Given the description of an element on the screen output the (x, y) to click on. 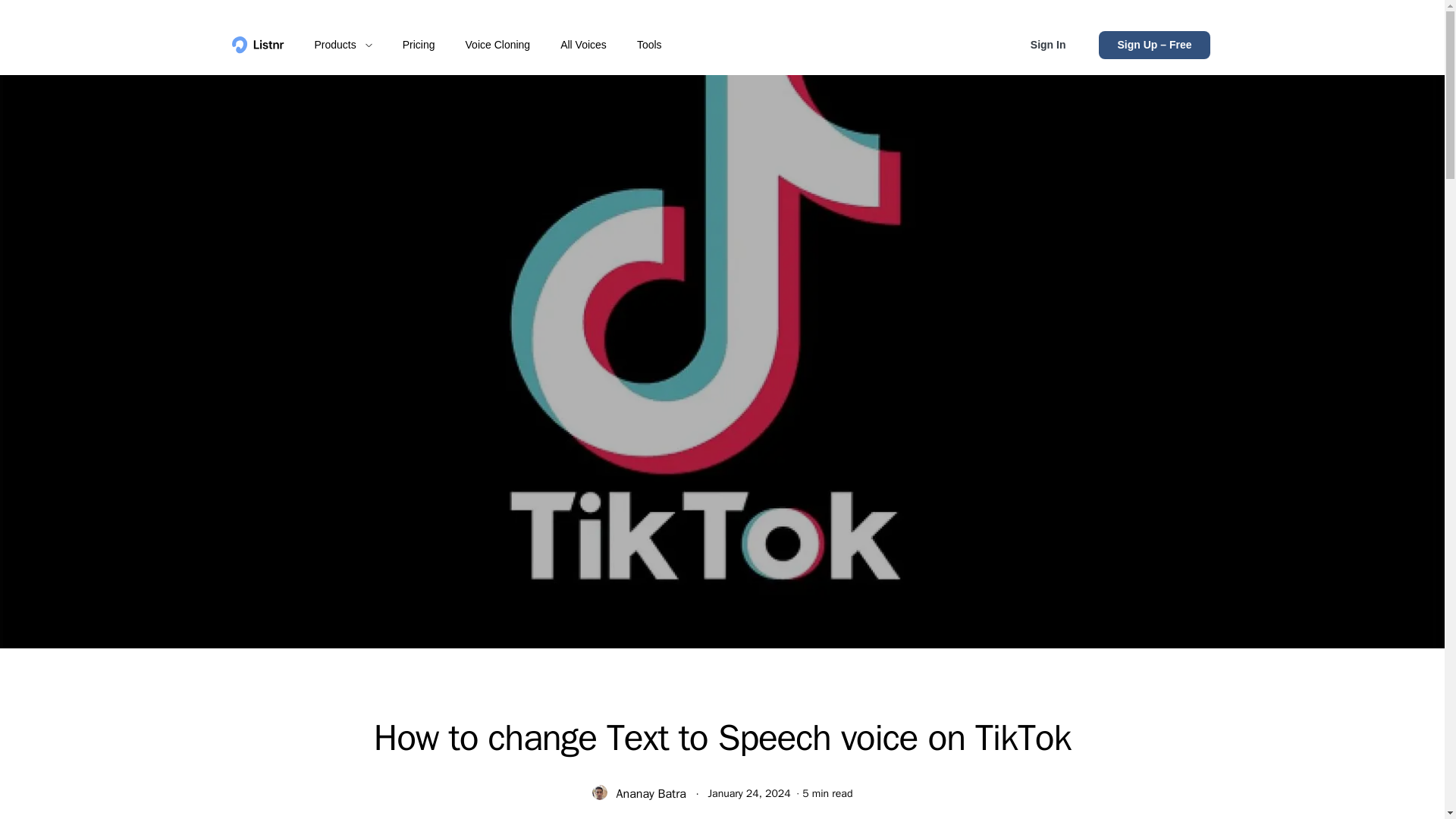
Voice Cloning (497, 44)
All Voices (583, 44)
Sign In (1047, 44)
Products (342, 44)
Pricing (418, 44)
Tools (649, 44)
